Given the description of an element on the screen output the (x, y) to click on. 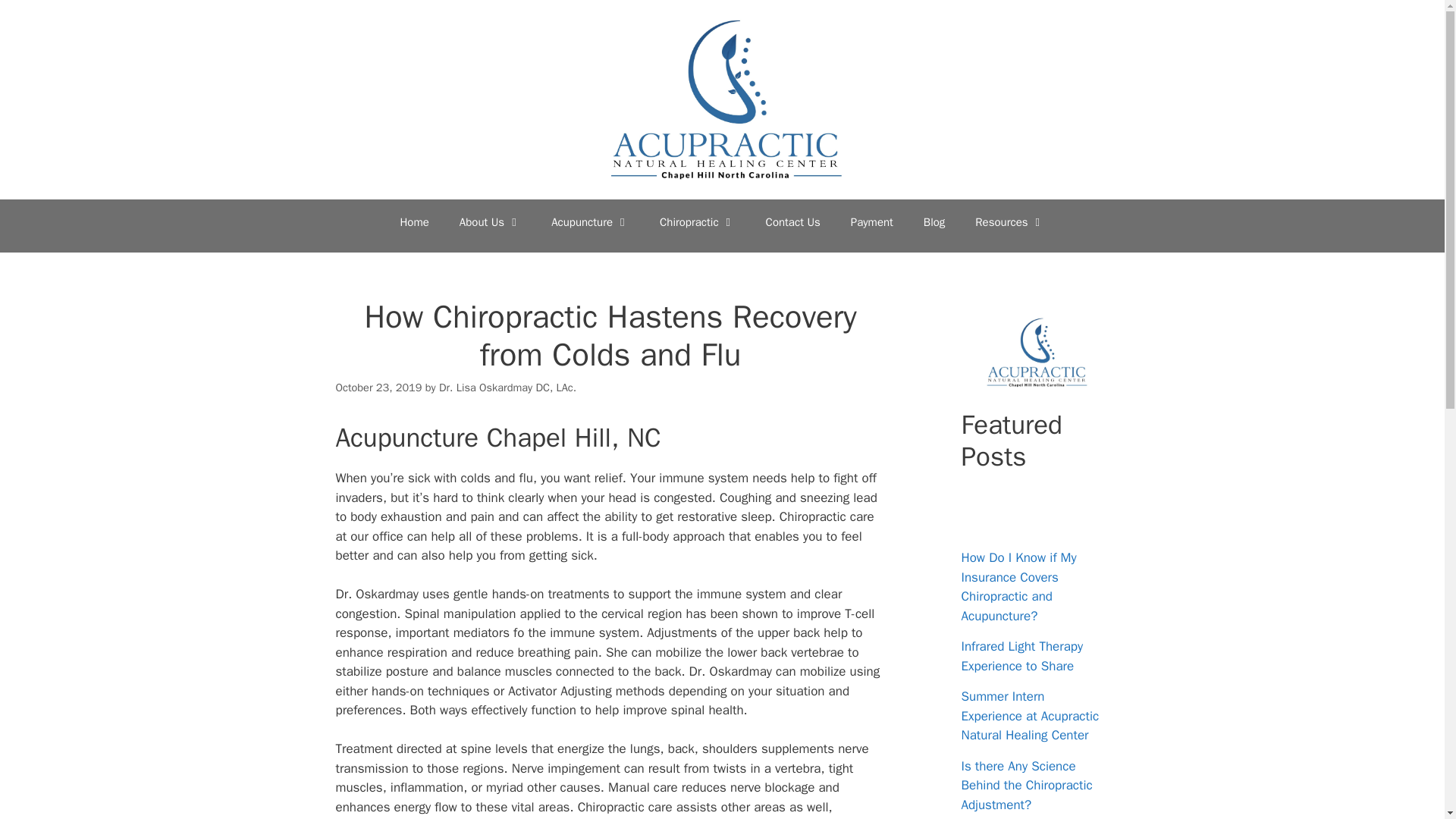
View all posts by Dr. Lisa Oskardmay DC, LAc. (507, 386)
Resources (1009, 221)
Home (414, 221)
Acupuncture (590, 221)
Contact Us (793, 221)
About Us (489, 221)
Chiropractic (698, 221)
Dr. Lisa Oskardmay DC, LAc. (507, 386)
Blog (933, 221)
Payment (871, 221)
